Given the description of an element on the screen output the (x, y) to click on. 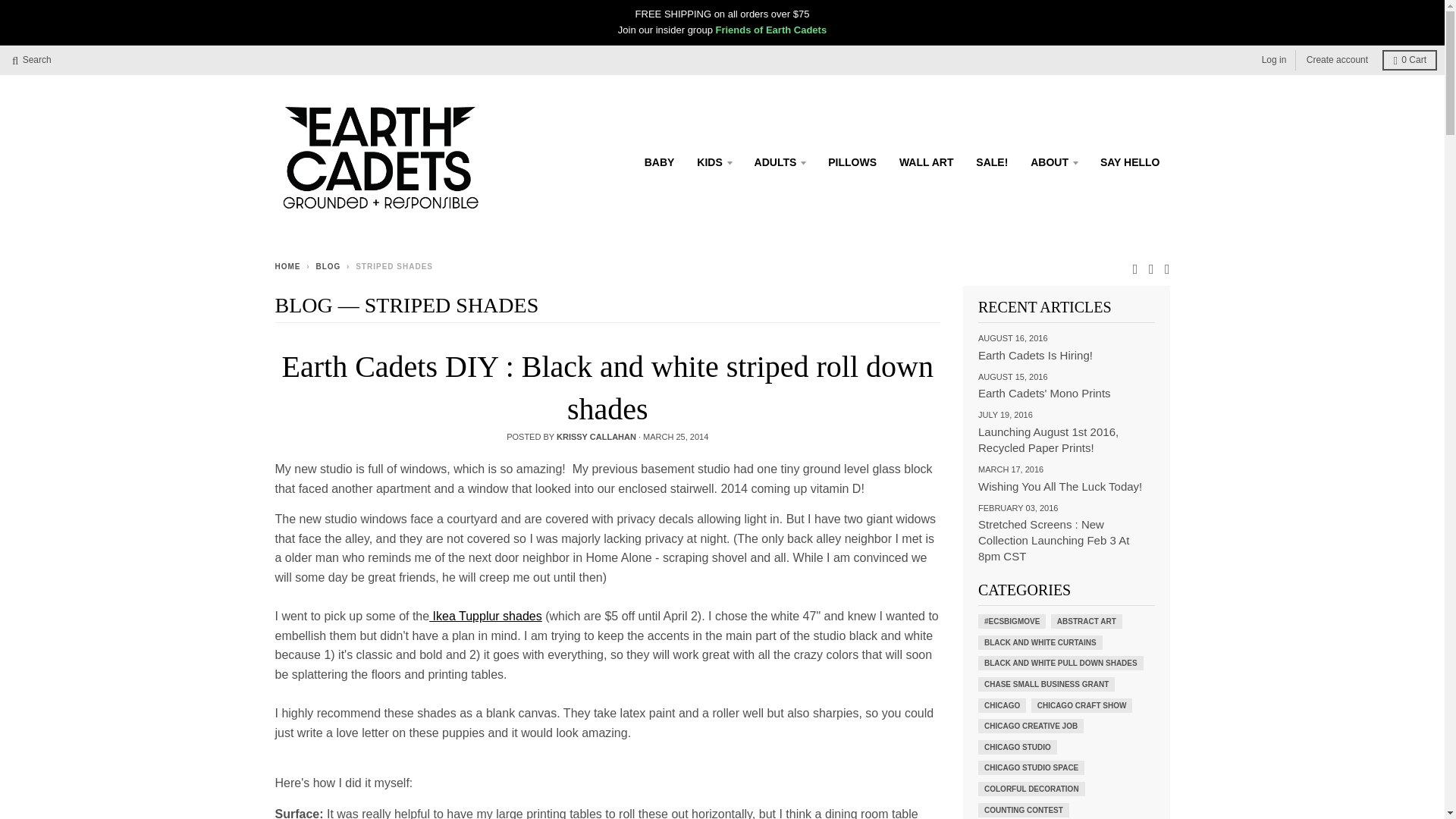
Back to the frontpage (287, 266)
Log in (1274, 59)
Friends of Earth Cadets (771, 30)
Search (31, 59)
0 Cart (1409, 59)
BABY (659, 162)
KIDS (714, 162)
ADULTS (779, 162)
Create account (1337, 59)
HOME (287, 266)
